Given the description of an element on the screen output the (x, y) to click on. 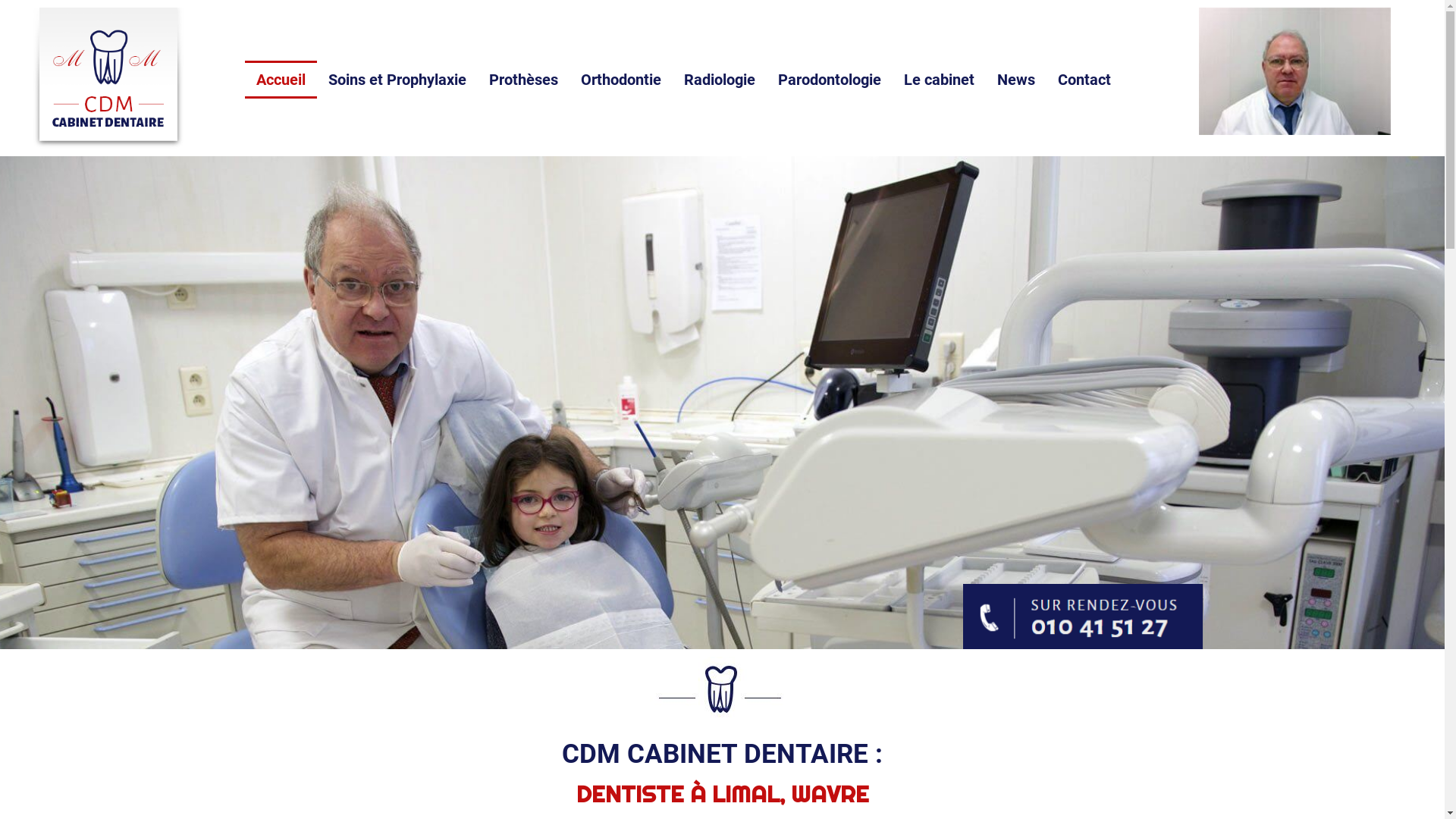
Parodontologie Element type: text (829, 79)
Accueil Element type: text (280, 79)
Le cabinet Element type: text (938, 79)
News Element type: text (1015, 79)
Orthodontie Element type: text (620, 79)
Soins et Prophylaxie Element type: text (396, 79)
Contact Element type: text (1084, 79)
Radiologie Element type: text (719, 79)
